Given the description of an element on the screen output the (x, y) to click on. 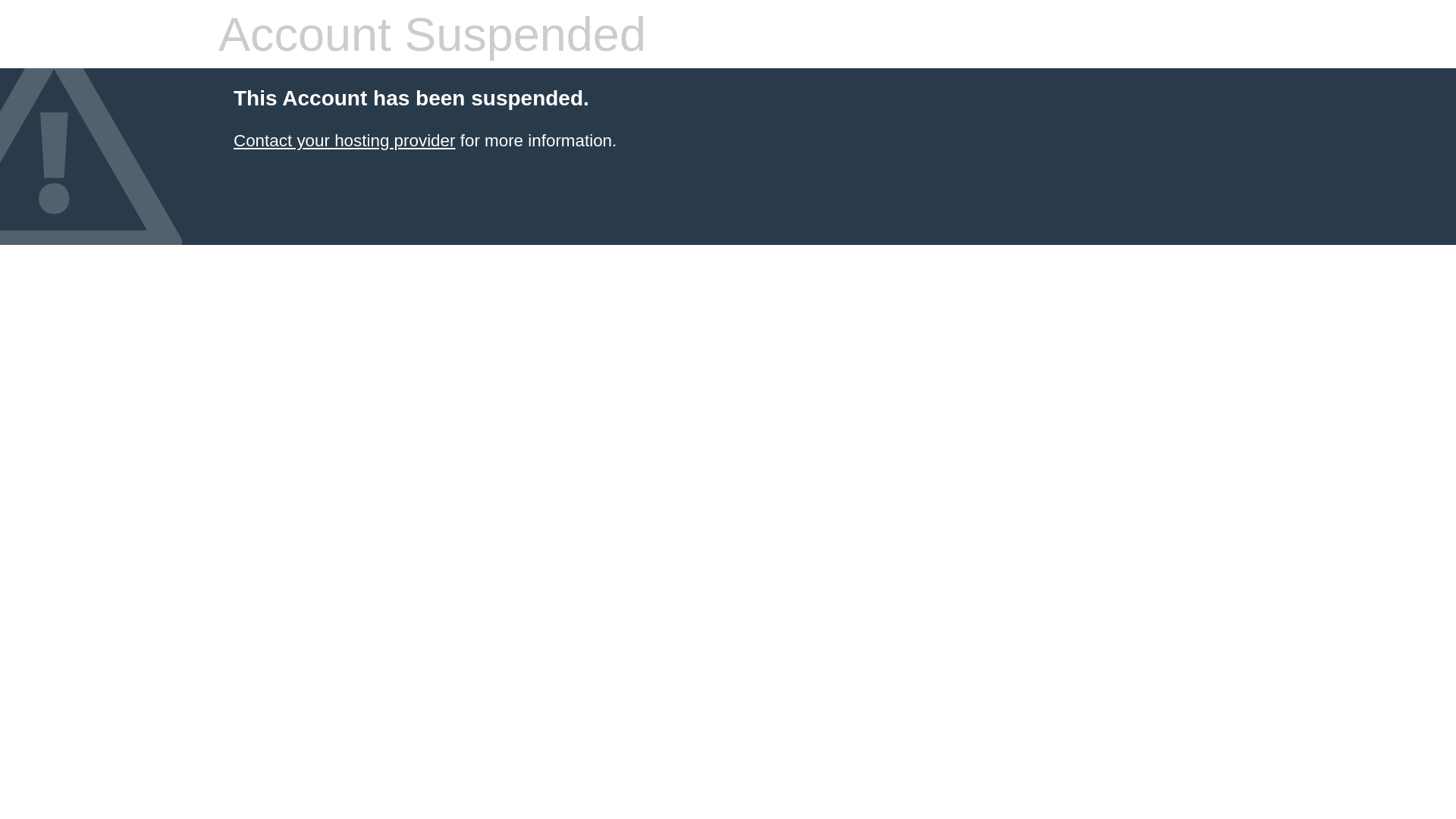
Contact your hosting provider Element type: text (344, 140)
